Given the description of an element on the screen output the (x, y) to click on. 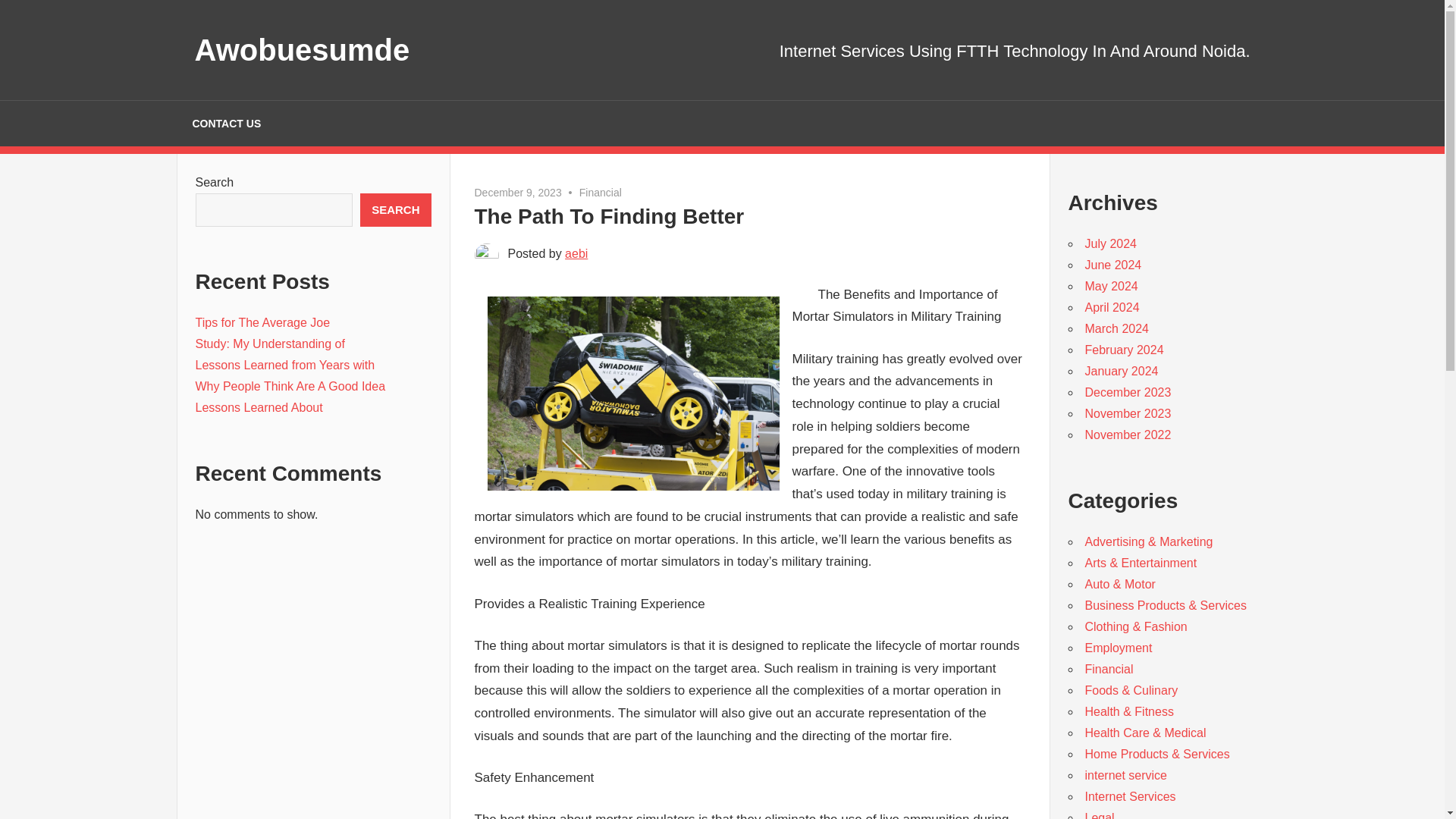
Lessons Learned from Years with (285, 364)
July 2024 (1110, 243)
December 9, 2023 (518, 192)
March 2024 (1116, 328)
internet service (1125, 775)
November 2023 (1127, 413)
Tips for The Average Joe (262, 322)
1:03 pm (518, 192)
aebi (576, 253)
May 2024 (1110, 286)
April 2024 (1111, 307)
November 2022 (1127, 434)
December 2023 (1127, 391)
CONTACT US (226, 123)
Employment (1117, 647)
